Given the description of an element on the screen output the (x, y) to click on. 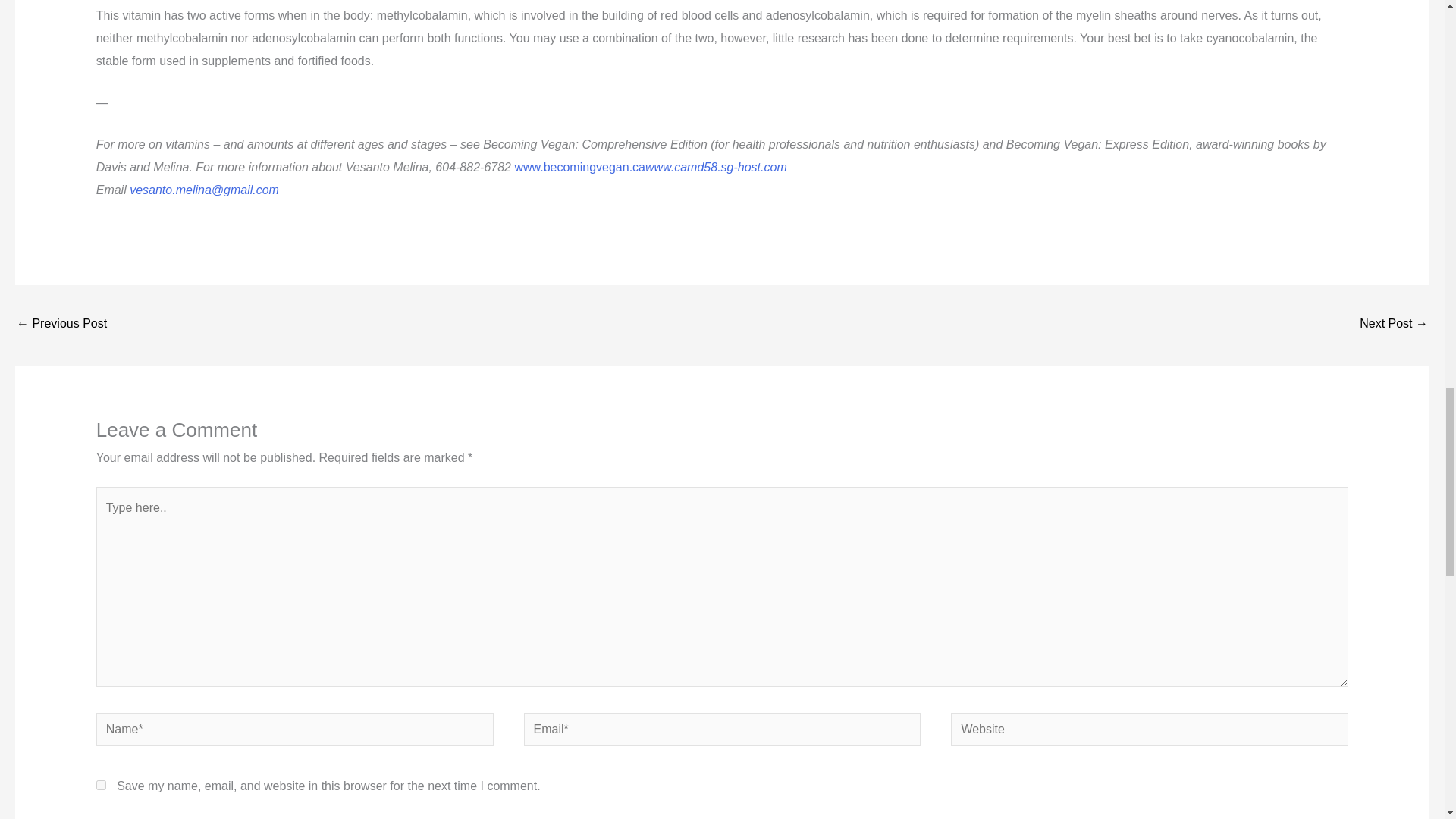
Is soy safe? (1393, 325)
Debunking the soy scare (61, 325)
yes (101, 785)
www.becomingvegan.ca (579, 166)
www.camd58.sg-host.com (716, 166)
